Given the description of an element on the screen output the (x, y) to click on. 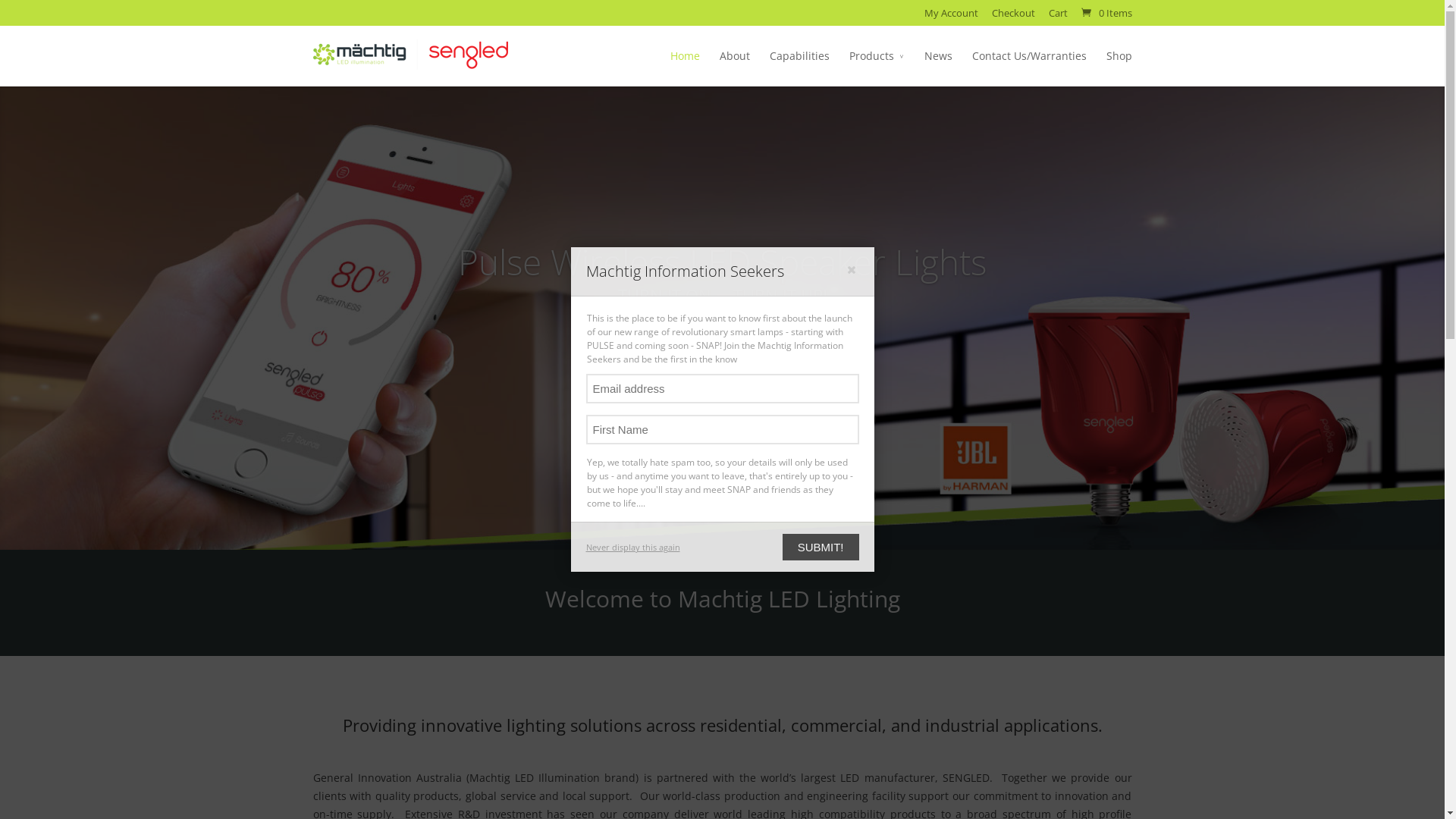
Find out more Element type: text (722, 348)
Home Element type: text (684, 66)
2 Element type: text (709, 518)
Checkout Element type: text (1013, 17)
About Element type: text (733, 66)
3 Element type: text (721, 518)
1 Element type: text (696, 518)
News Element type: text (937, 66)
SUBMIT! Element type: text (820, 546)
4 Element type: text (734, 518)
0 Items Element type: text (1104, 12)
Contact Us/Warranties Element type: text (1029, 66)
Products Element type: text (876, 66)
Pulse Wireless LED Speaker Lights Element type: text (722, 261)
Capabilities Element type: text (798, 66)
Shop Element type: text (1118, 66)
5 Element type: text (747, 518)
Cart Element type: text (1057, 17)
My Account Element type: text (950, 17)
